Given the description of an element on the screen output the (x, y) to click on. 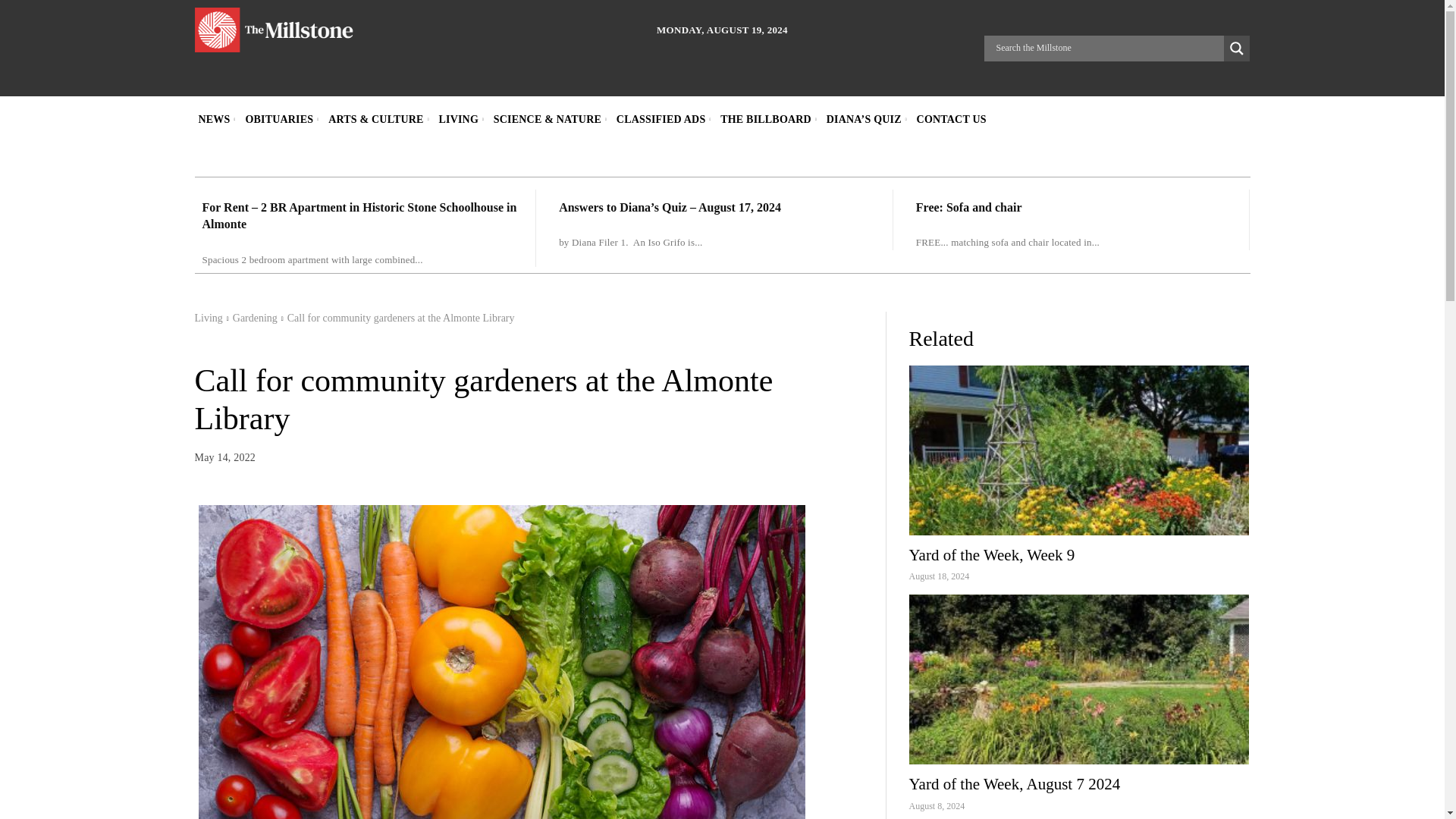
NEWS (212, 119)
Living (207, 317)
Gardening (255, 317)
OBITUARIES (279, 119)
CONTACT US (951, 119)
View all posts in Living (207, 317)
CLASSIFIED ADS (661, 119)
THE BILLBOARD (765, 119)
LIVING (457, 119)
Free: Sofa and chair (968, 206)
